Given the description of an element on the screen output the (x, y) to click on. 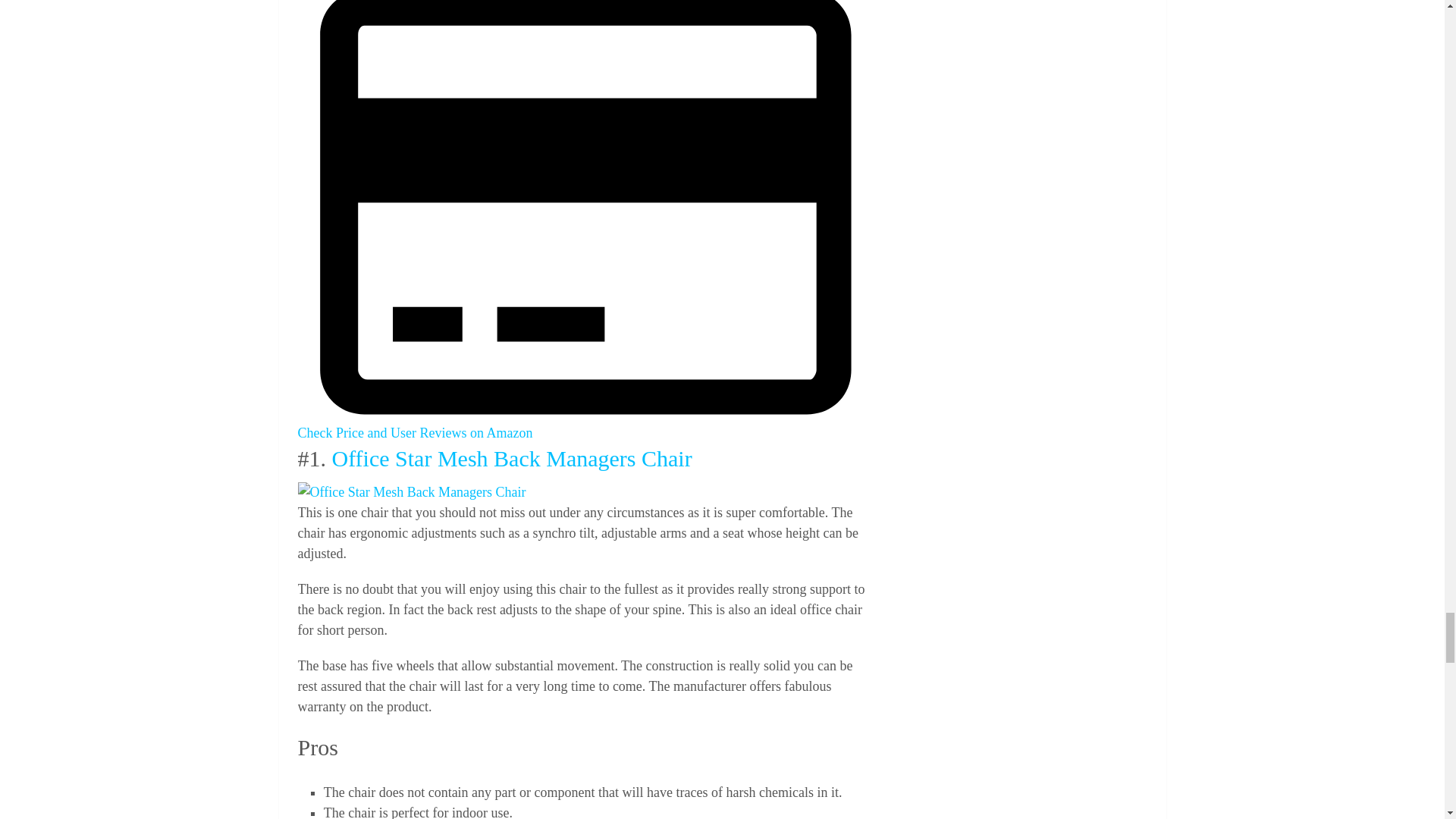
Office Star Mesh Back Managers Chair (411, 492)
